Given the description of an element on the screen output the (x, y) to click on. 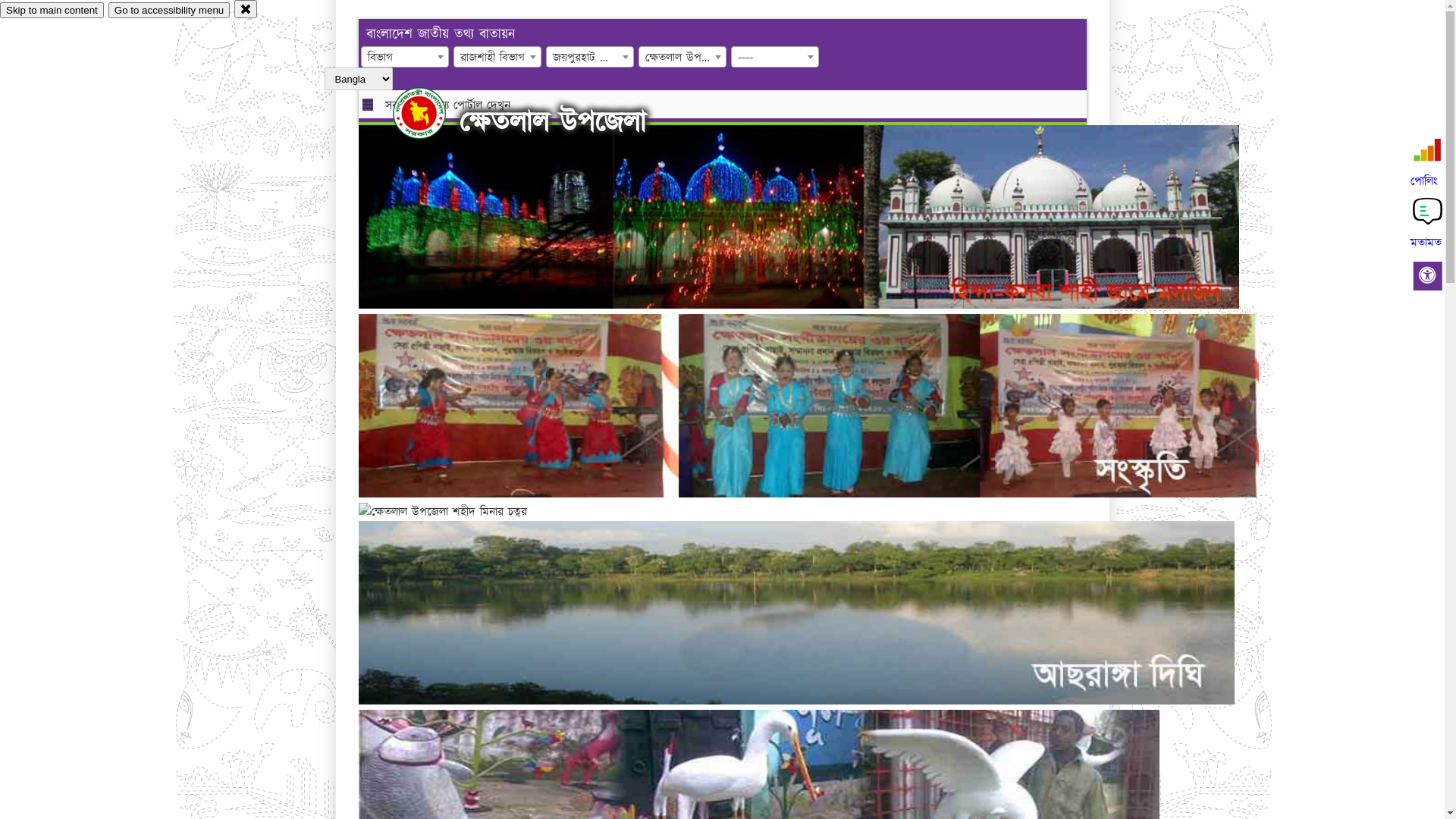
close Element type: hover (245, 9)
Skip to main content Element type: text (51, 10)
Go to accessibility menu Element type: text (168, 10)

                
             Element type: hover (431, 112)
